Given the description of an element on the screen output the (x, y) to click on. 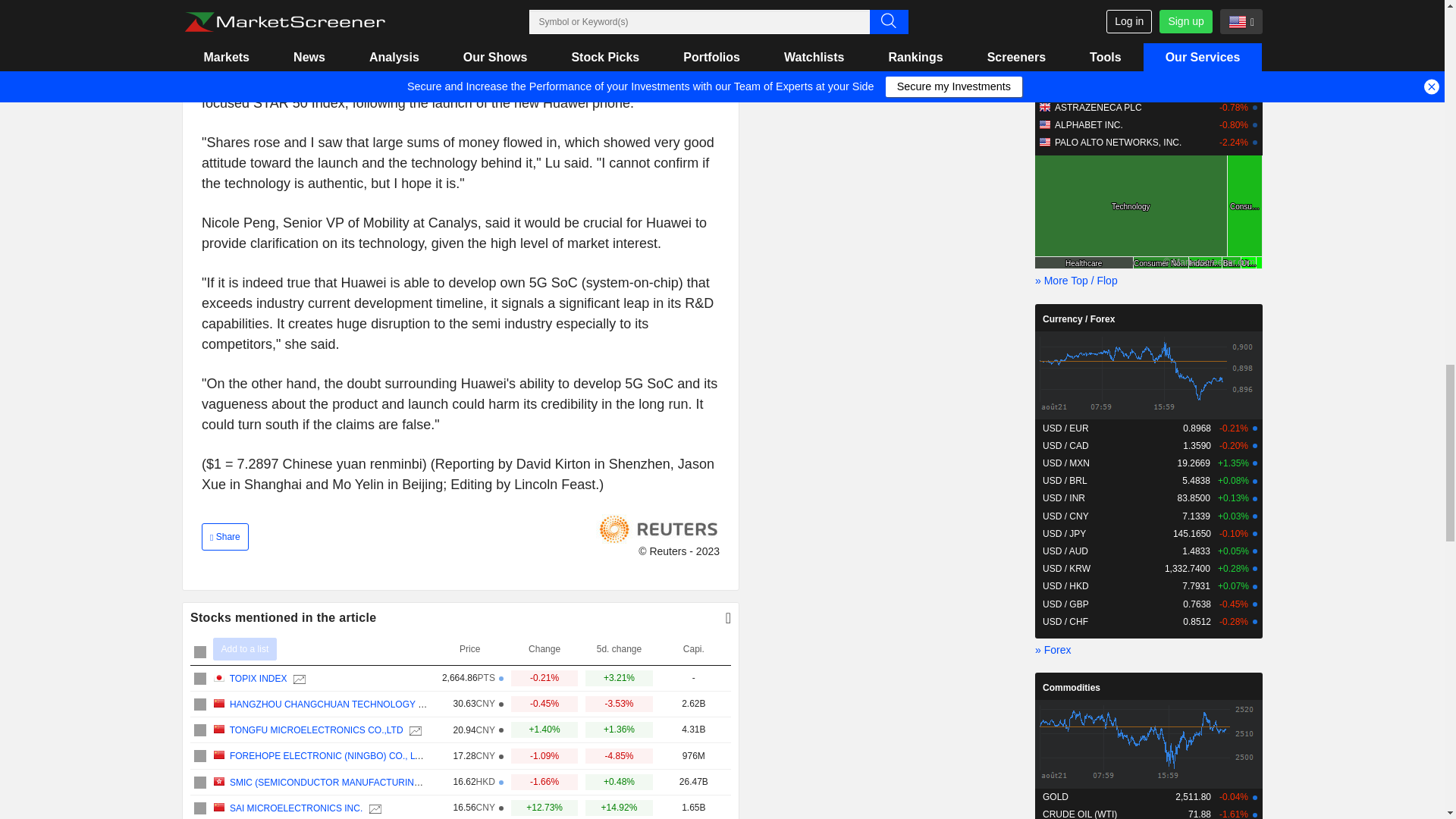
on (199, 704)
on (199, 652)
on (199, 782)
on (199, 729)
on (199, 678)
on (199, 756)
on (199, 808)
